Given the description of an element on the screen output the (x, y) to click on. 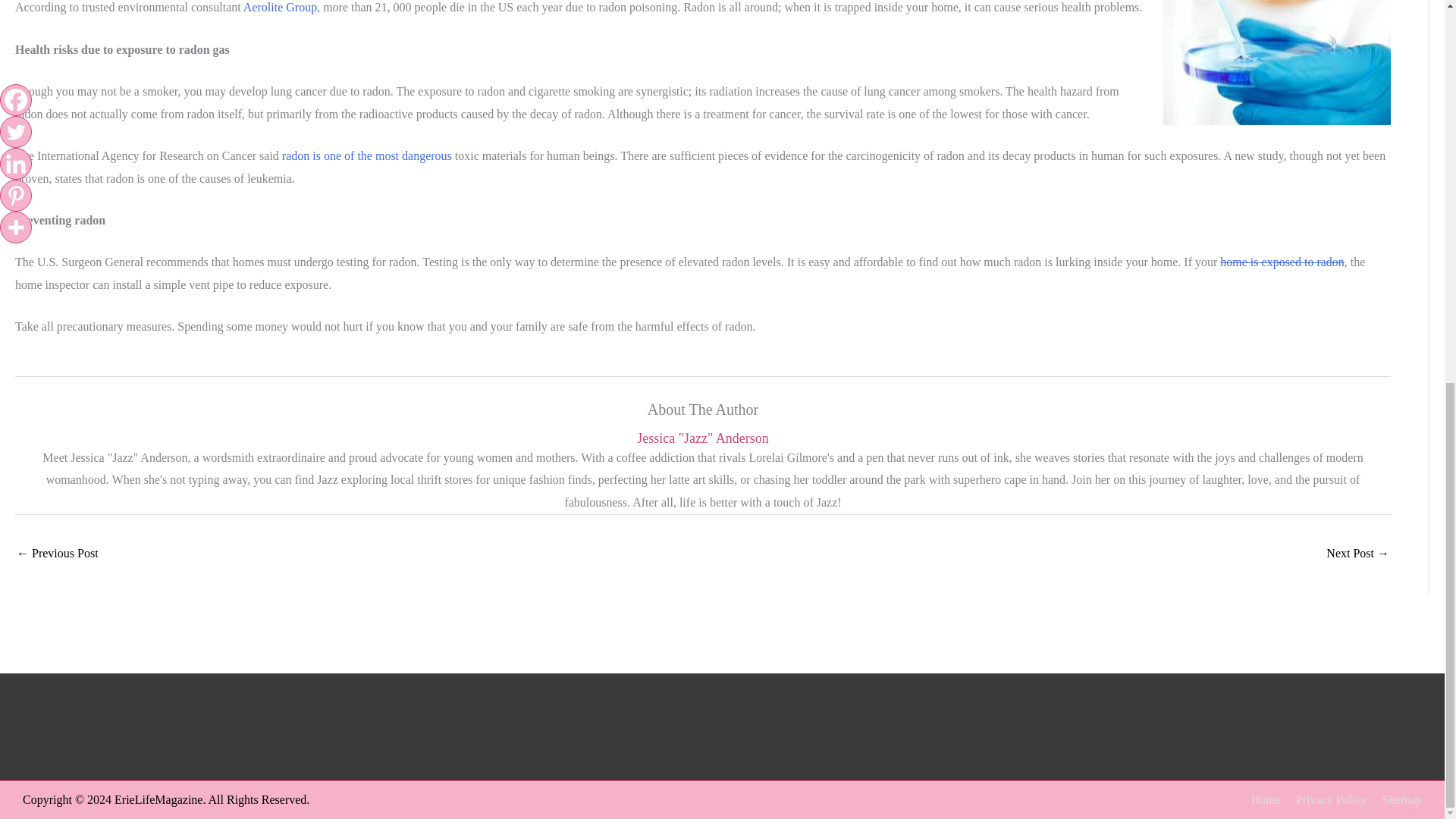
Home (1260, 799)
Privacy Policy (1325, 799)
Qualifying for the EB-5 Immigration Visa (1357, 554)
Aerolitegroup.com (280, 6)
home is exposed to radon (1281, 261)
radon is one of the most dangerous (366, 155)
Ncbi.nlm.nih.gov (366, 155)
Aerolite Group (280, 6)
Sitemap (1396, 799)
Jessica "Jazz" Anderson (702, 438)
Epa.gov (1281, 261)
AC Units: Myths vs. Truths (57, 554)
health risk of radon (1276, 62)
